Given the description of an element on the screen output the (x, y) to click on. 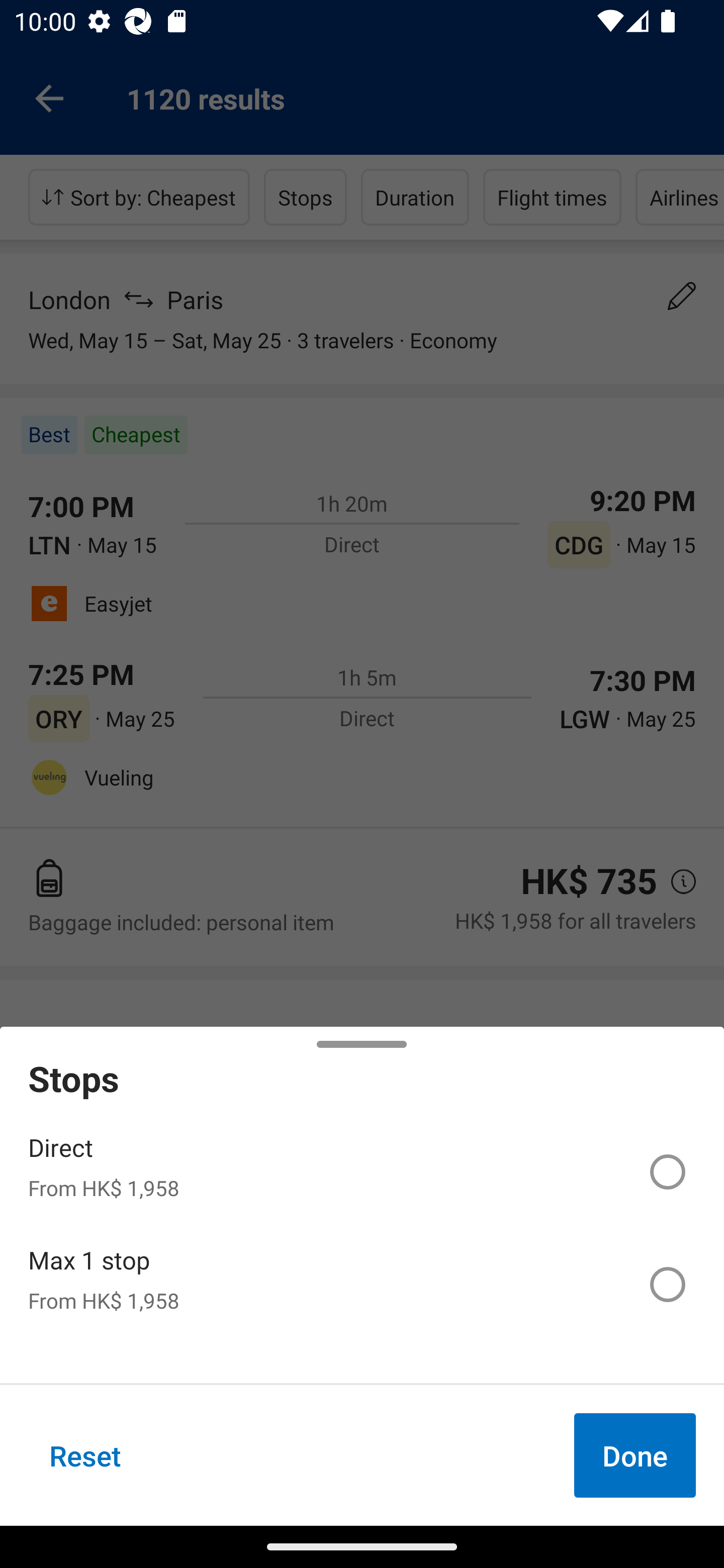
Direct From HK$ 1,958 (362, 1171)
Max 1 stop From HK$ 1,958 (362, 1283)
Reset (85, 1454)
Done (634, 1454)
